Given the description of an element on the screen output the (x, y) to click on. 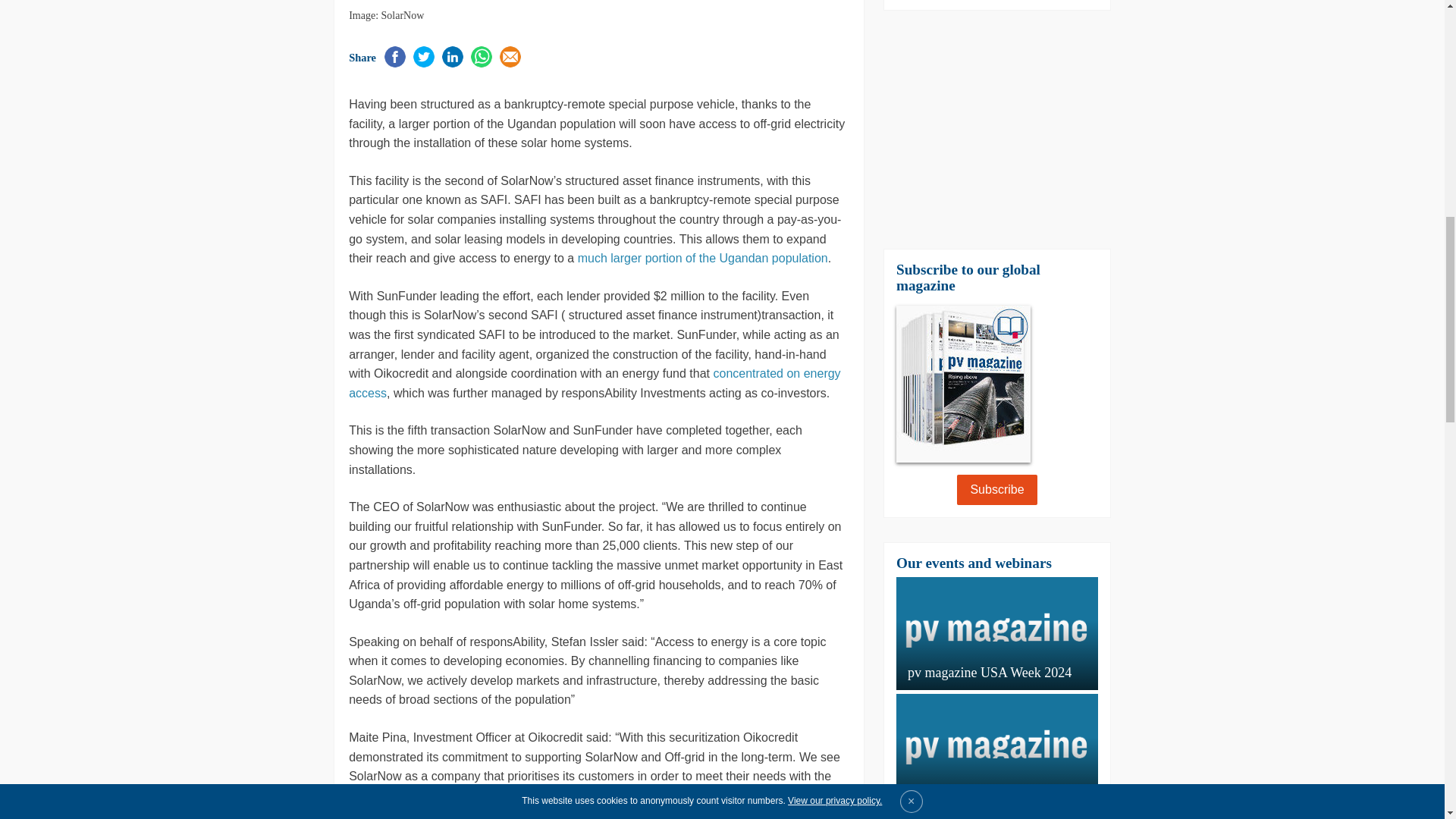
3rd party ad content (996, 129)
